Given the description of an element on the screen output the (x, y) to click on. 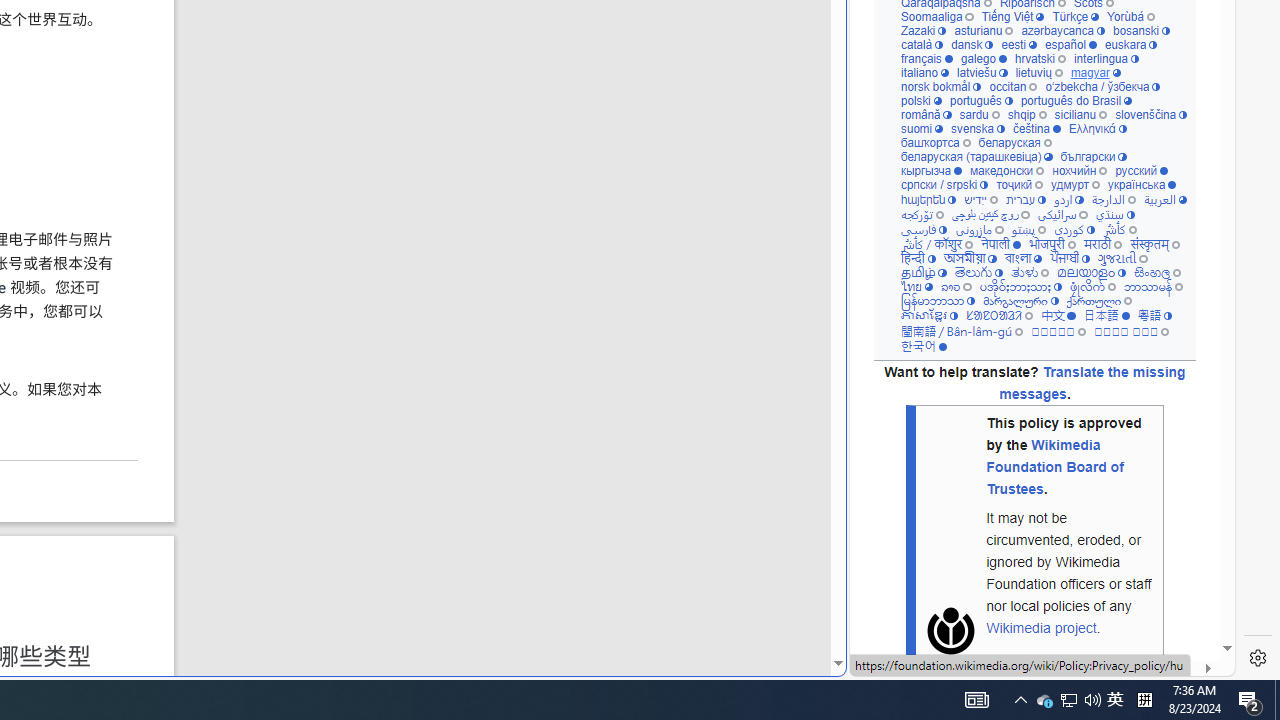
magyar (1095, 73)
Wikimedia Foundation mark (950, 631)
euskara (1130, 45)
